Given the description of an element on the screen output the (x, y) to click on. 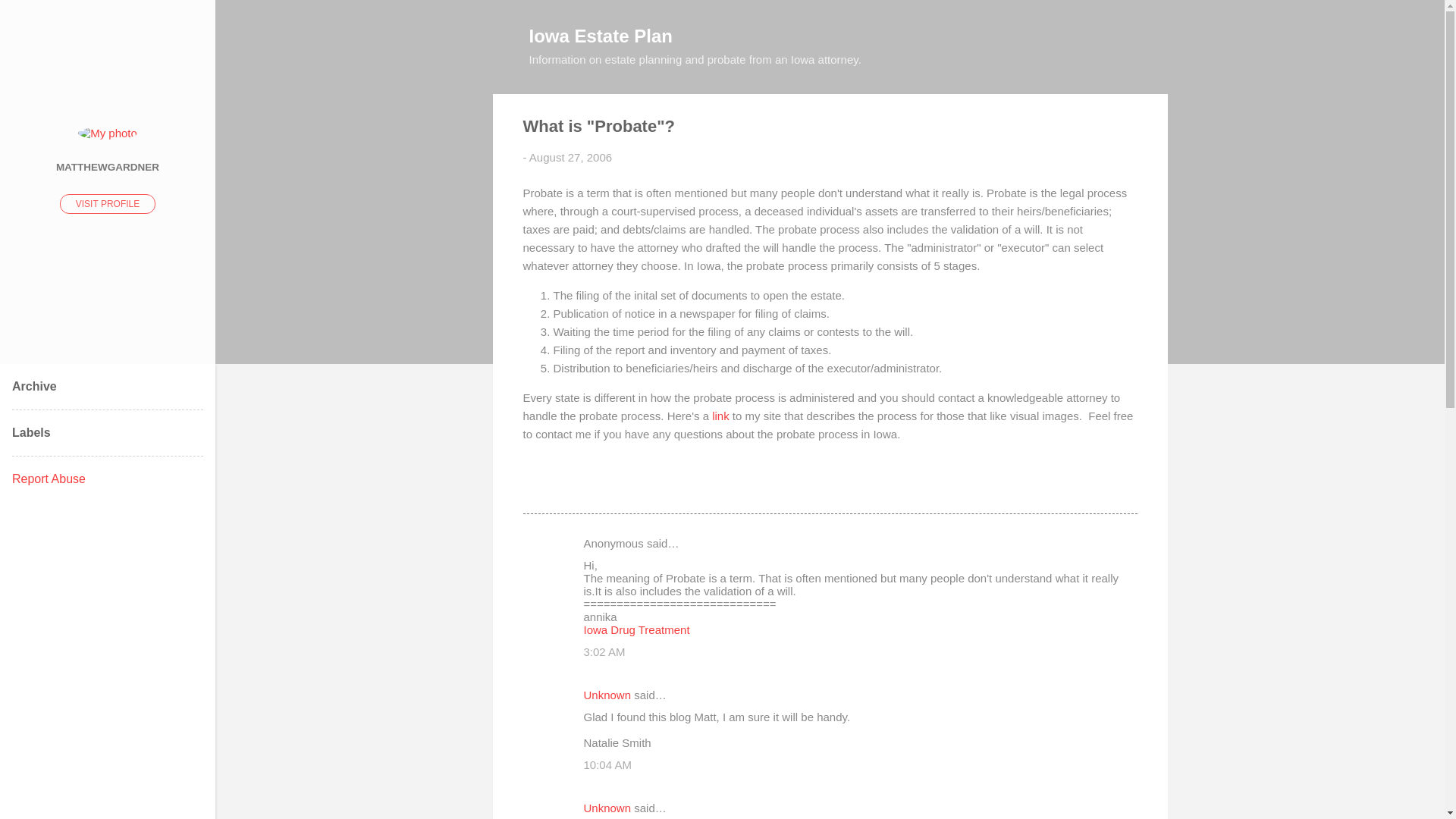
comment permalink (604, 651)
Iowa Drug Treatment (636, 629)
Unknown (607, 694)
10:04 AM (607, 764)
link (720, 415)
3:02 AM (604, 651)
Email Post (562, 485)
Iowa Estate Plan (600, 35)
August 27, 2006 (570, 156)
Unknown (607, 807)
permanent link (570, 156)
Search (29, 18)
MATTHEWGARDNER (107, 166)
